Given the description of an element on the screen output the (x, y) to click on. 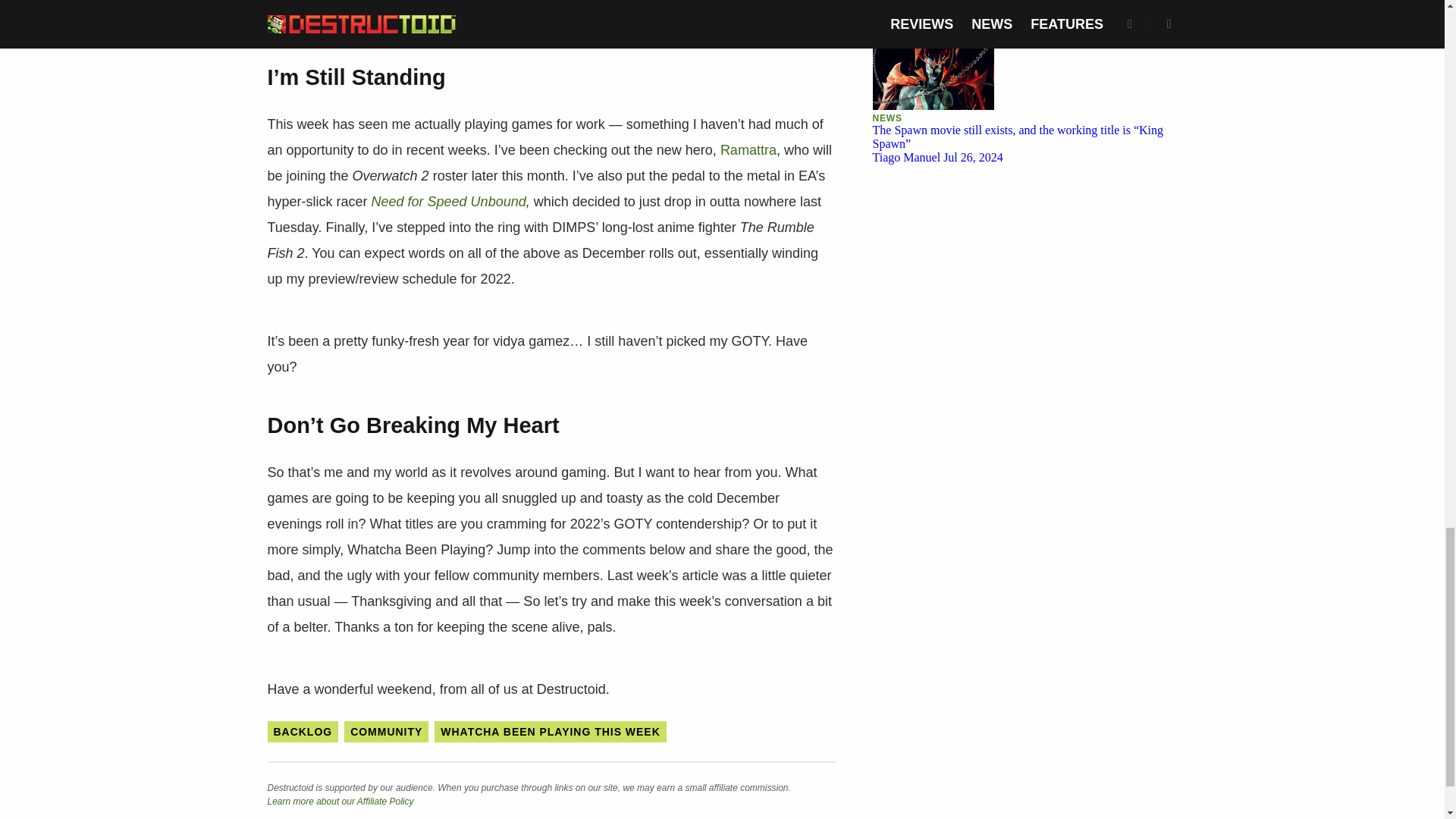
Need for Speed Unbound (448, 201)
Ramattra (748, 150)
